Given the description of an element on the screen output the (x, y) to click on. 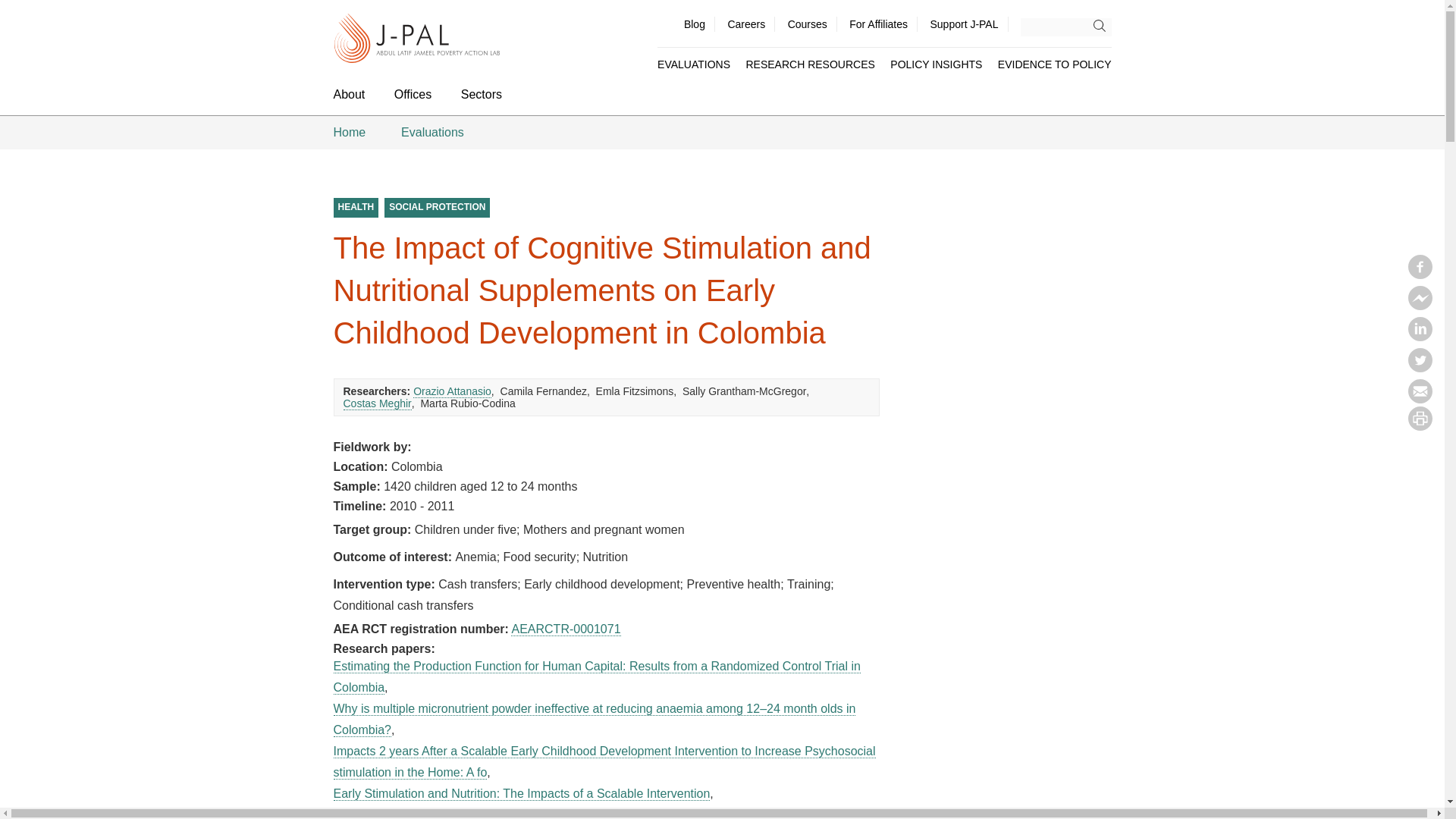
Facebook messenger (1419, 305)
J-PAL (416, 39)
Linkedin (1419, 336)
Email (1419, 399)
Twitter (1419, 367)
Search (1102, 25)
Facebook (1419, 274)
print (1419, 426)
